Given the description of an element on the screen output the (x, y) to click on. 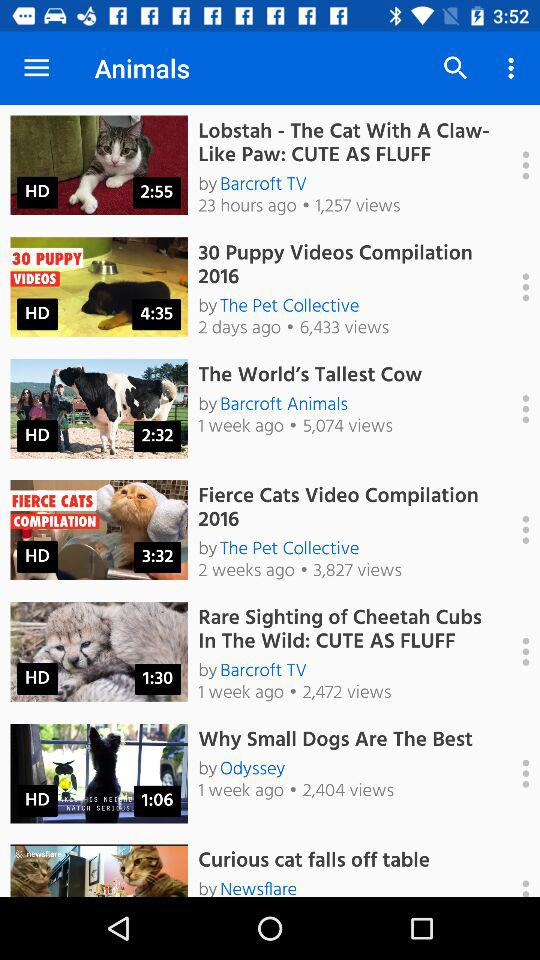
to play next (515, 529)
